Given the description of an element on the screen output the (x, y) to click on. 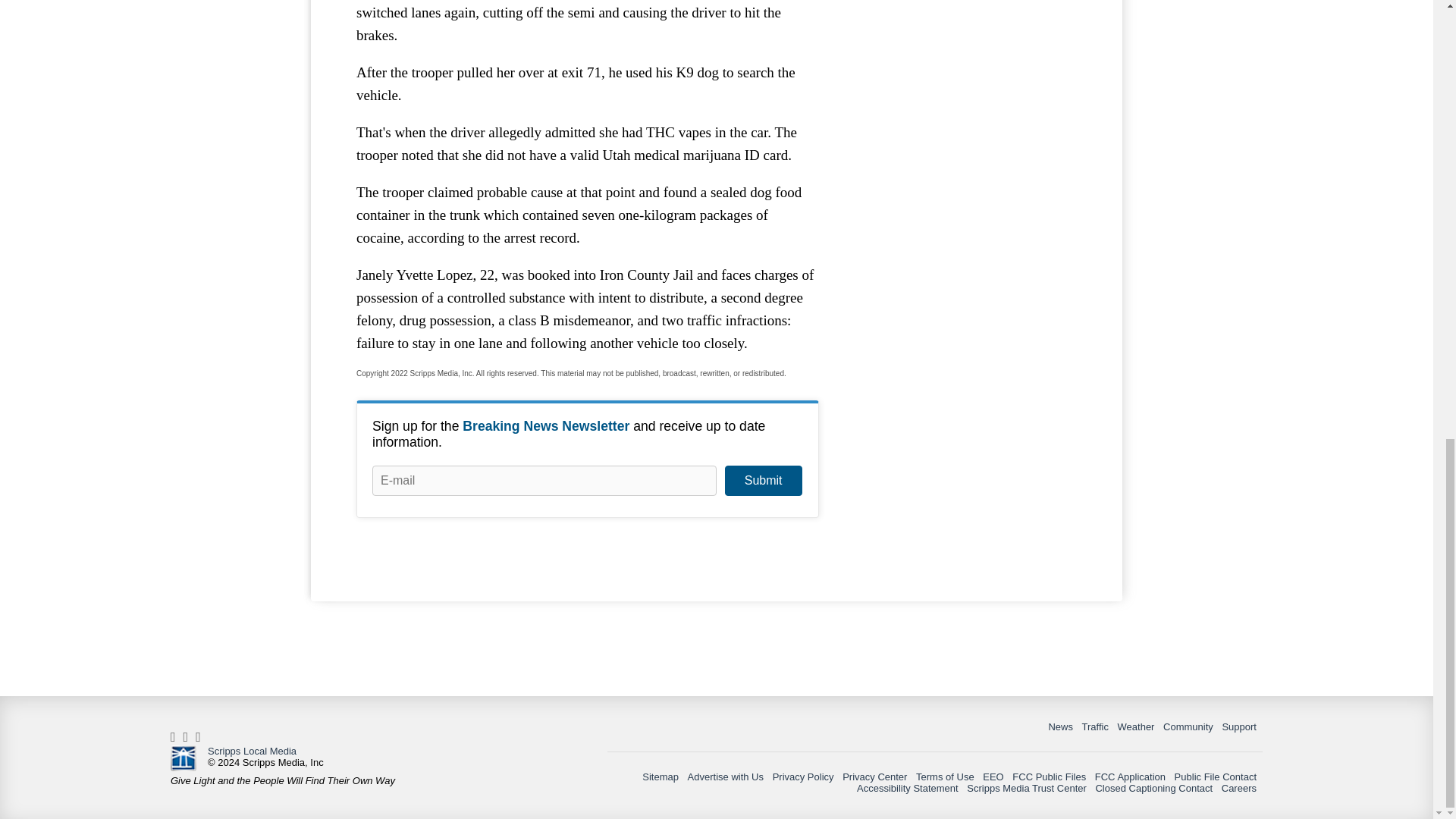
Submit (763, 481)
